Given the description of an element on the screen output the (x, y) to click on. 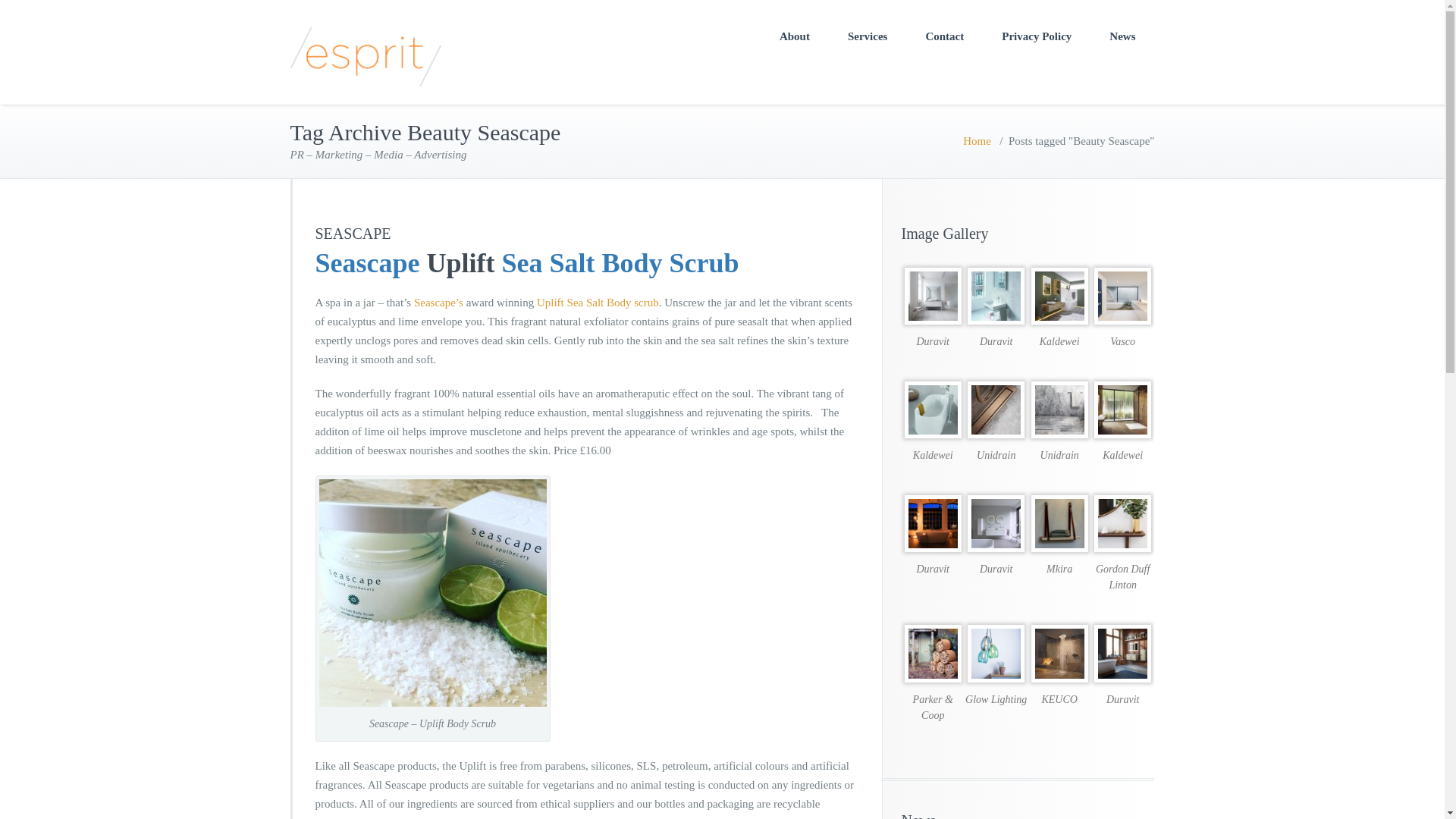
Home (976, 141)
Services (866, 36)
Privacy Policy (1036, 36)
Uplift Sea Salt Body scrub (598, 302)
Sea Salt Body Scrub (620, 263)
SEASCAPE (353, 233)
Seascape (367, 263)
About (794, 36)
Contact (943, 36)
